Given the description of an element on the screen output the (x, y) to click on. 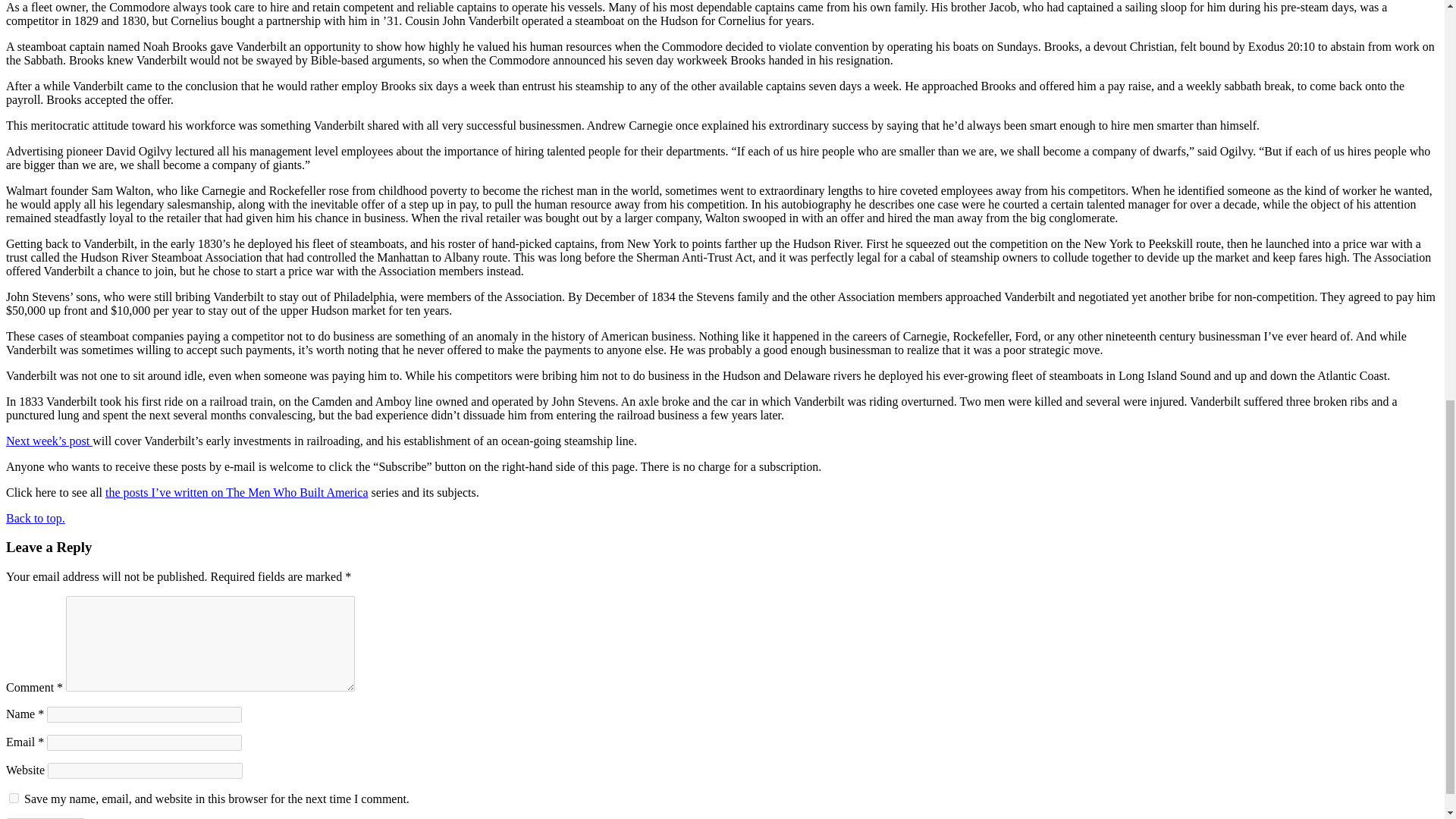
Al's posts on the Men Who Built America characters (236, 492)
yes (13, 798)
Vanderbilt ruins his rivals (49, 440)
Back to top. (35, 517)
